Given the description of an element on the screen output the (x, y) to click on. 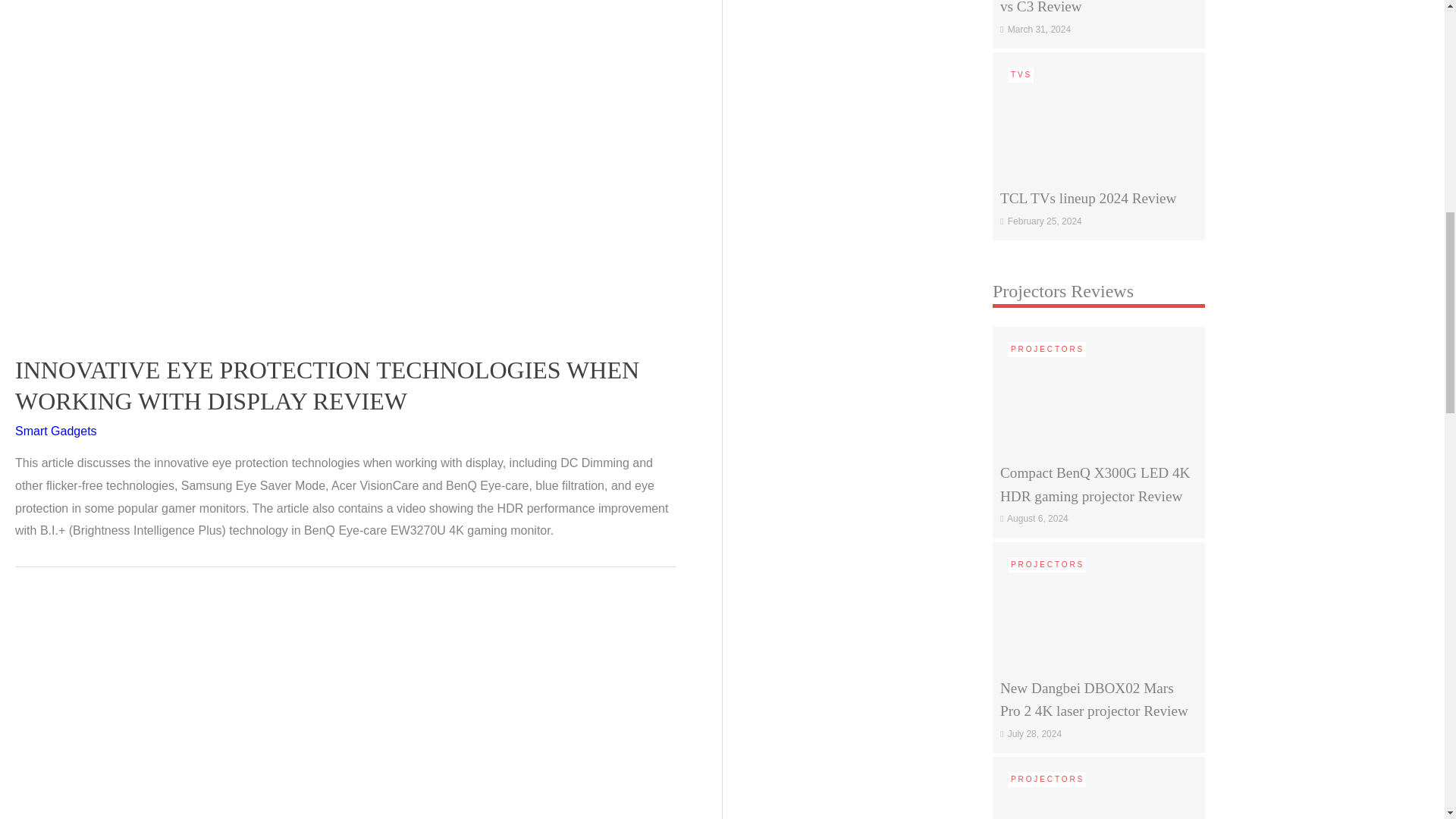
New ViewSonic LX700-4K Gaming Projector Review (1098, 816)
TCL TVs lineup 2024 Review (1098, 114)
Compact BenQ X300G LED 4K HDR gaming projector Review (1098, 389)
New Dangbei DBOX02 Mars Pro 2 4K laser projector Review (1098, 604)
